Given the description of an element on the screen output the (x, y) to click on. 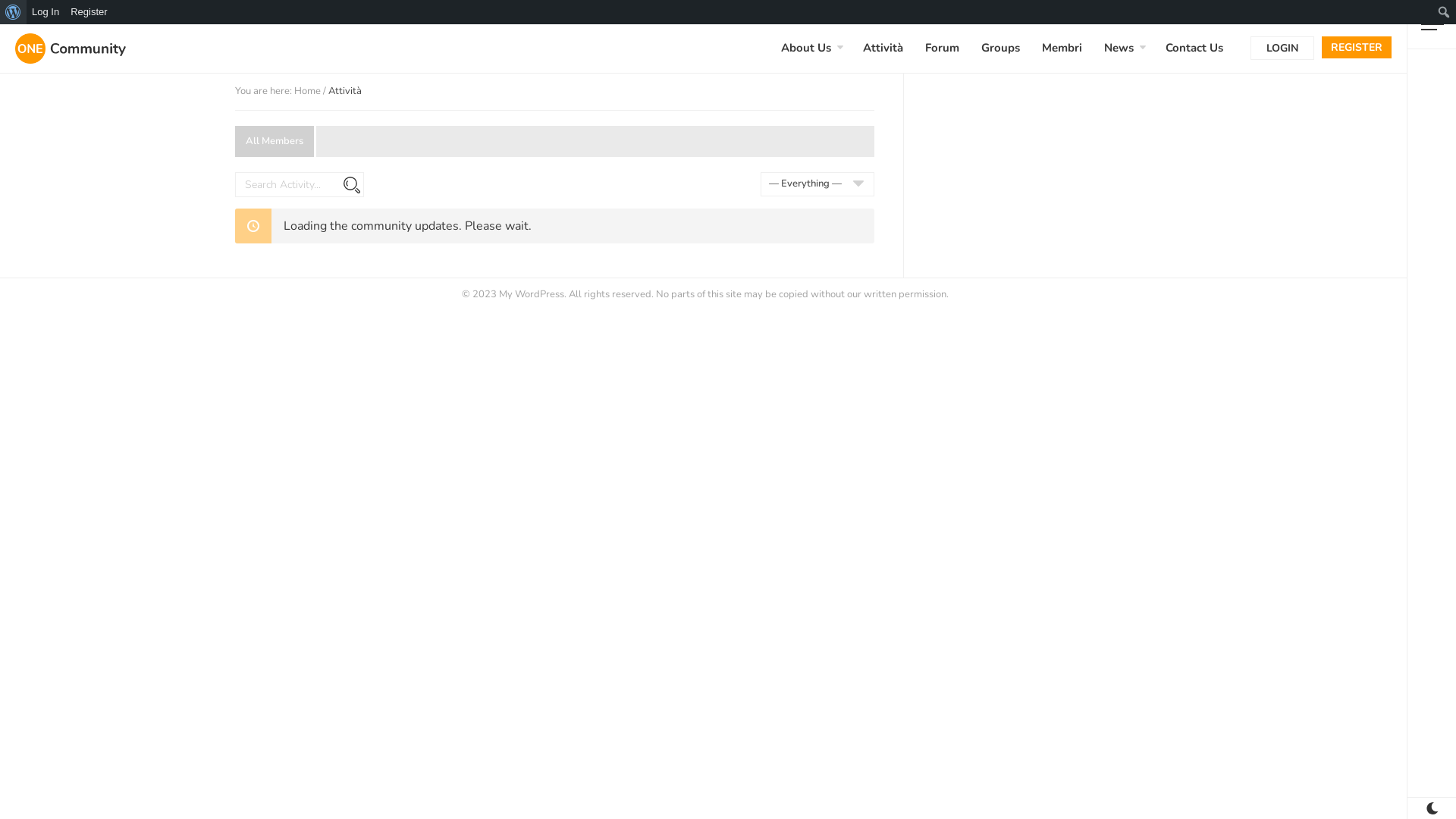
About Us Element type: text (806, 47)
Search Element type: text (351, 184)
Contact Us Element type: text (1194, 47)
My WordPress Element type: hover (70, 48)
Search Element type: text (12, 12)
Log In Element type: text (45, 12)
News Element type: text (1118, 47)
LOGIN Element type: text (1282, 47)
REGISTER Element type: text (1356, 47)
Forum Element type: text (942, 47)
Groups Element type: text (1000, 47)
Home Element type: text (307, 90)
Register Element type: text (88, 12)
All Members Element type: text (274, 140)
Membri Element type: text (1061, 47)
